Given the description of an element on the screen output the (x, y) to click on. 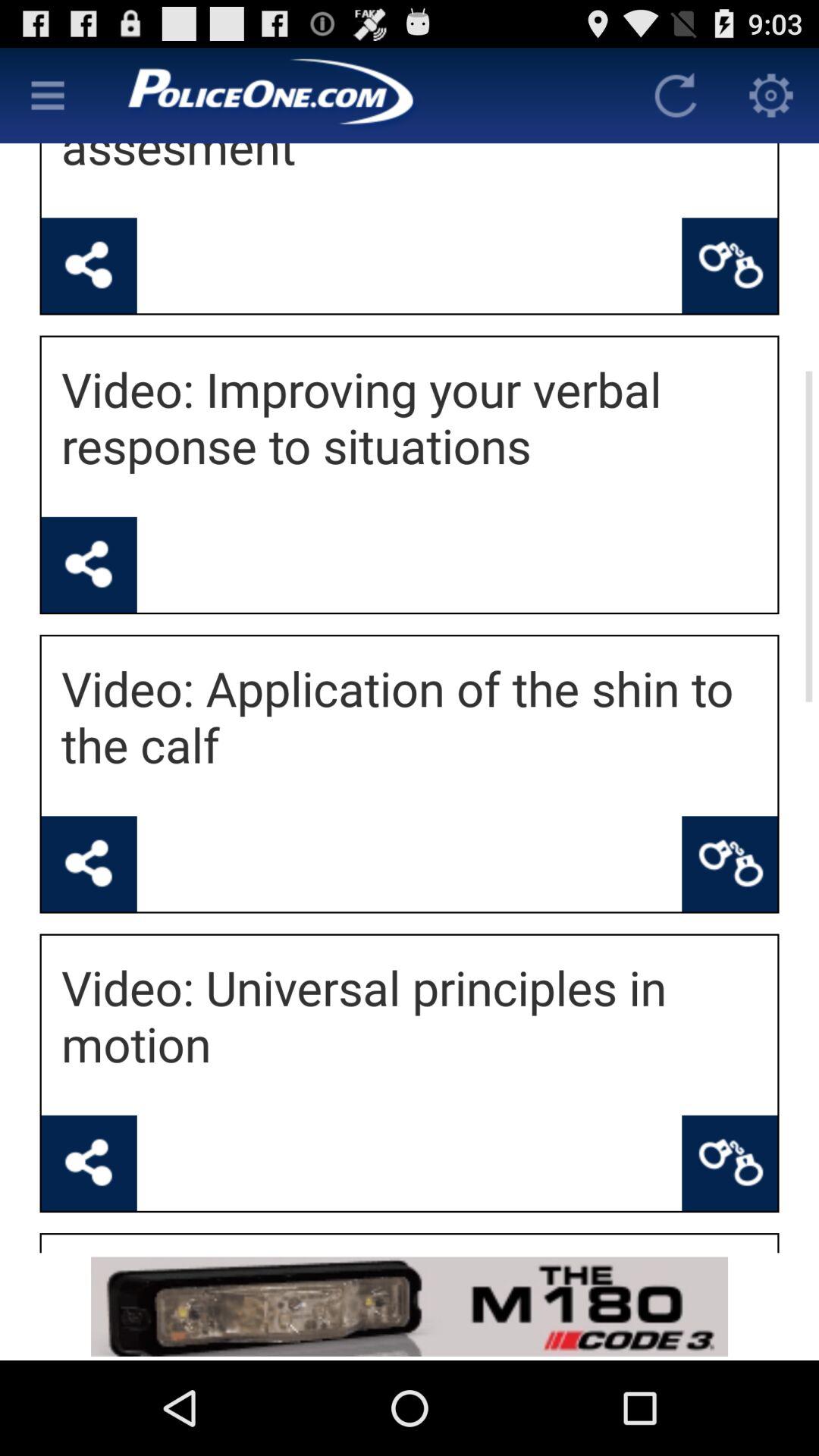
go to share (89, 1162)
